Given the description of an element on the screen output the (x, y) to click on. 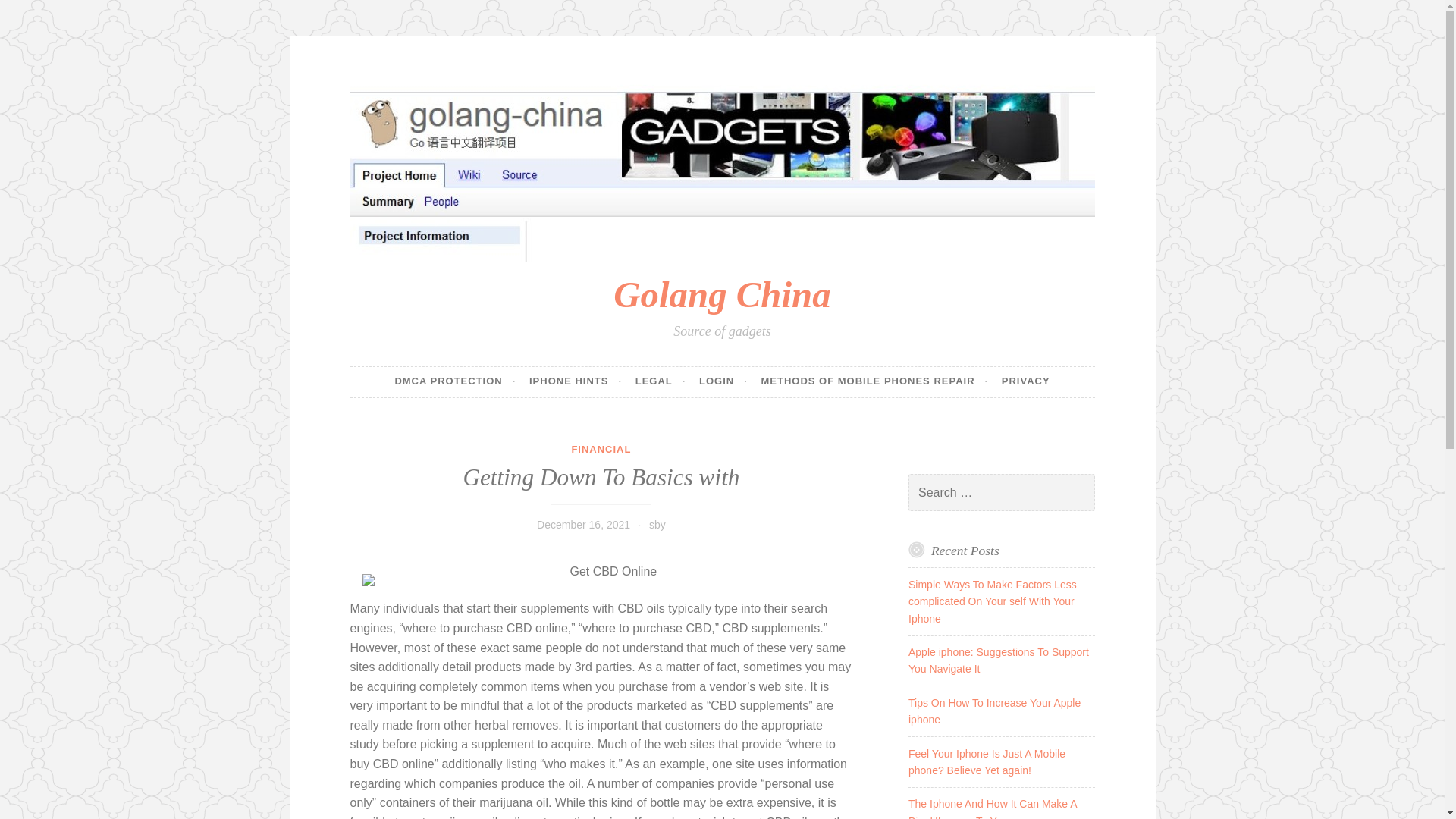
Golang China (720, 294)
Apple iphone: Suggestions To Support You Navigate It (998, 660)
DMCA PROTECTION (454, 381)
sby (657, 524)
December 16, 2021 (583, 524)
LEGAL (659, 381)
The Iphone And How It Can Make A Big difference To You (992, 808)
LOGIN (723, 381)
METHODS OF MOBILE PHONES REPAIR (874, 381)
Search (33, 13)
IPHONE HINTS (575, 381)
FINANCIAL (600, 449)
Tips On How To Increase Your Apple iphone (994, 710)
